Given the description of an element on the screen output the (x, y) to click on. 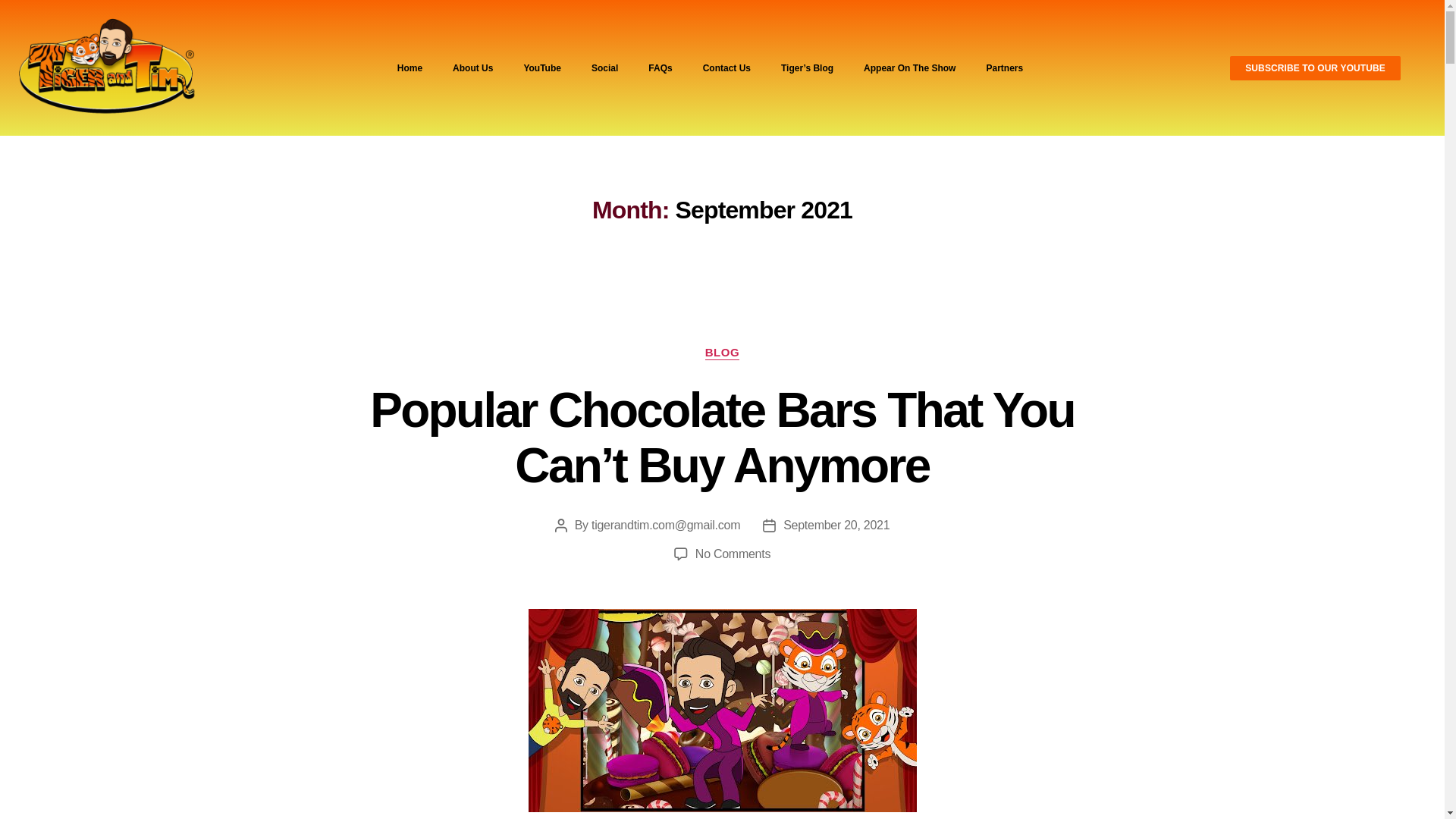
SUBSCRIBE TO OUR YOUTUBE (1315, 68)
About Us (473, 67)
Partners (1004, 67)
Appear On The Show (909, 67)
Home (409, 67)
YouTube (542, 67)
Social (604, 67)
FAQs (660, 67)
Contact Us (726, 67)
